Given the description of an element on the screen output the (x, y) to click on. 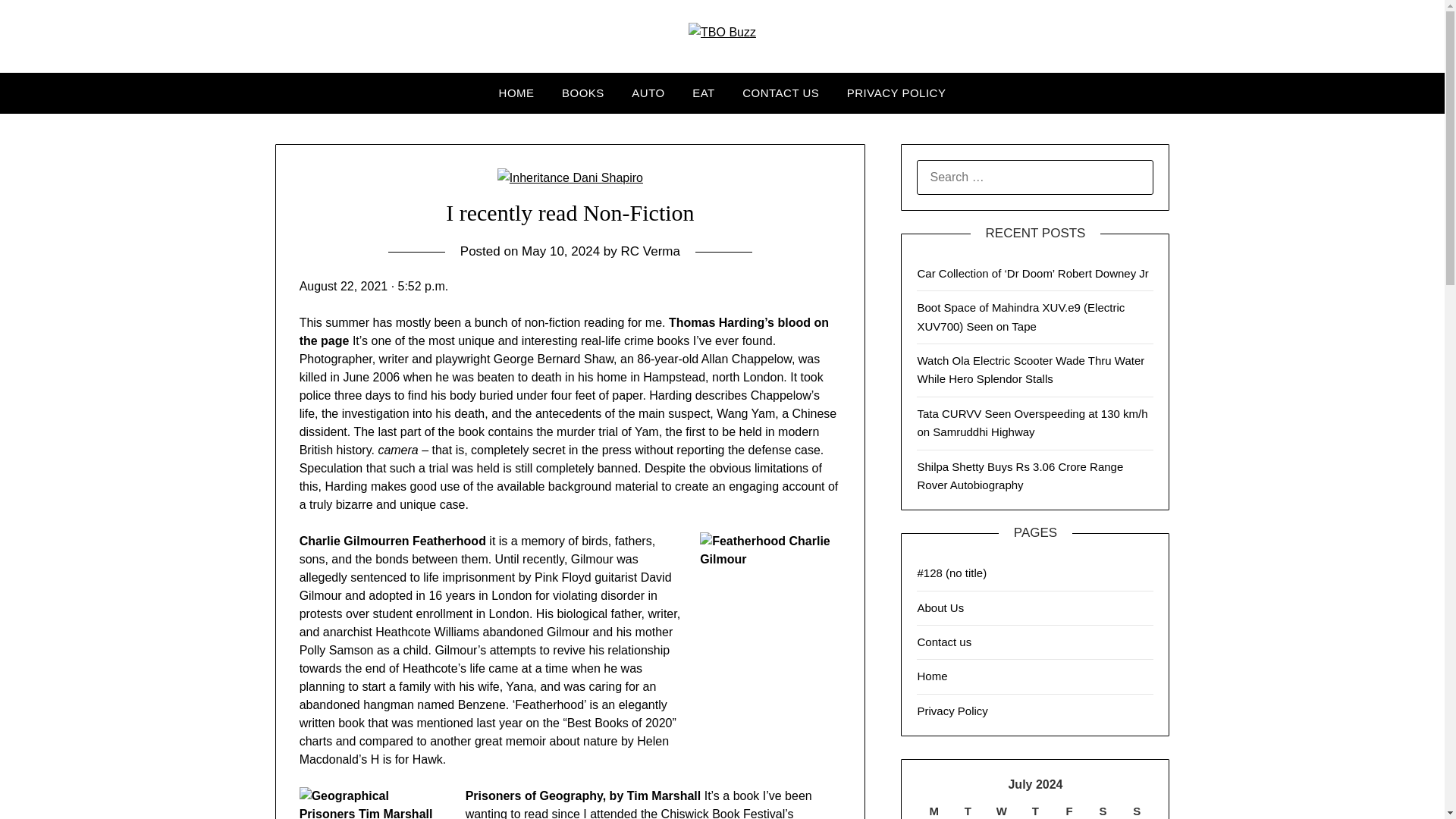
CONTACT US (780, 92)
Tuesday (967, 810)
Thursday (1034, 810)
RC Verma (650, 251)
May 10, 2024 (560, 251)
HOME (516, 92)
AUTO (648, 92)
Shilpa Shetty Buys Rs 3.06 Crore Range Rover Autobiography (1019, 475)
PRIVACY POLICY (896, 92)
Friday (1069, 810)
Wednesday (1002, 810)
EAT (702, 92)
Monday (933, 810)
Privacy Policy (952, 710)
Search (38, 22)
